Given the description of an element on the screen output the (x, y) to click on. 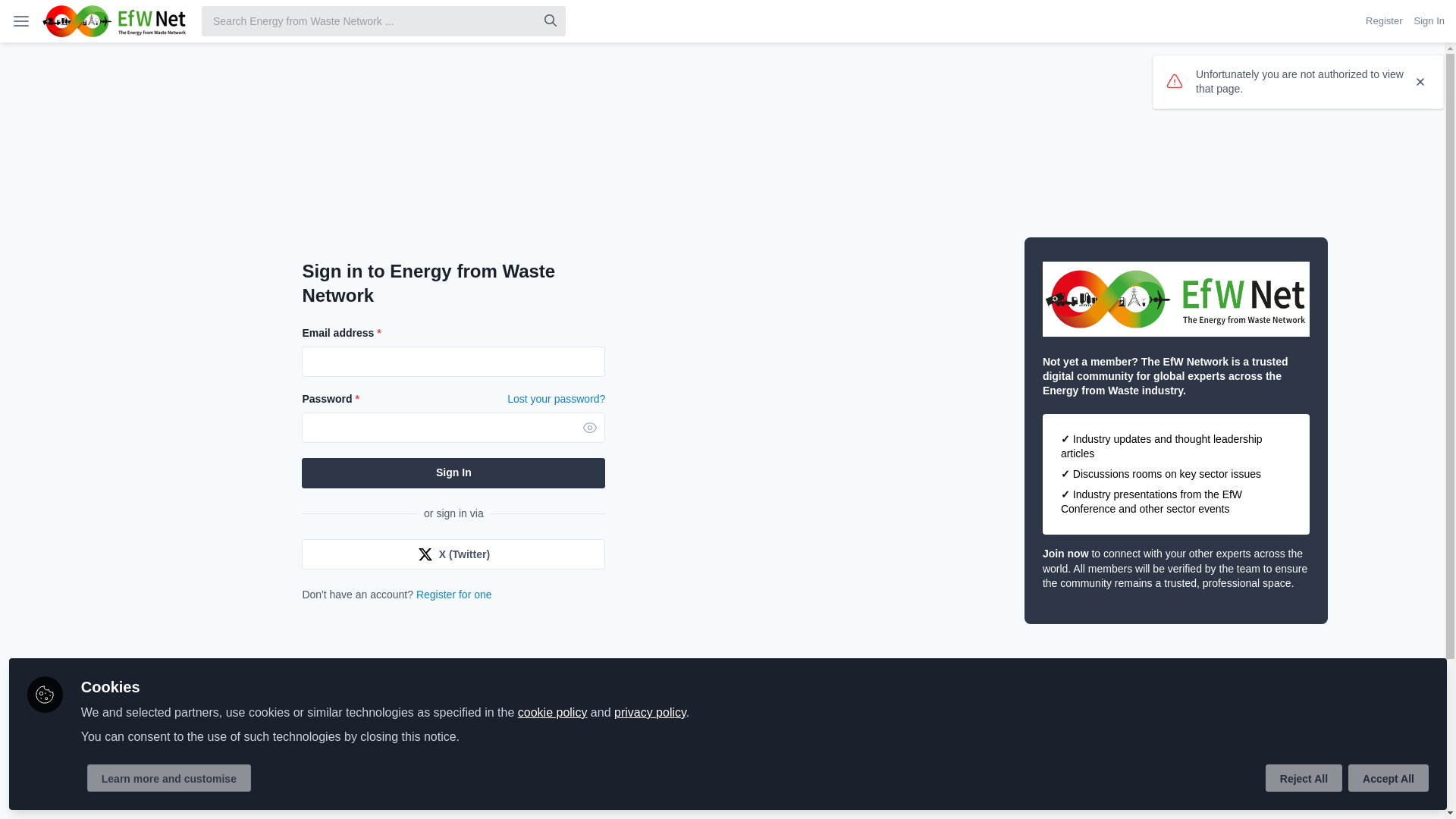
Menu (21, 21)
Dismiss (1420, 81)
Search (550, 20)
Energy from Waste Network (114, 21)
